Given the description of an element on the screen output the (x, y) to click on. 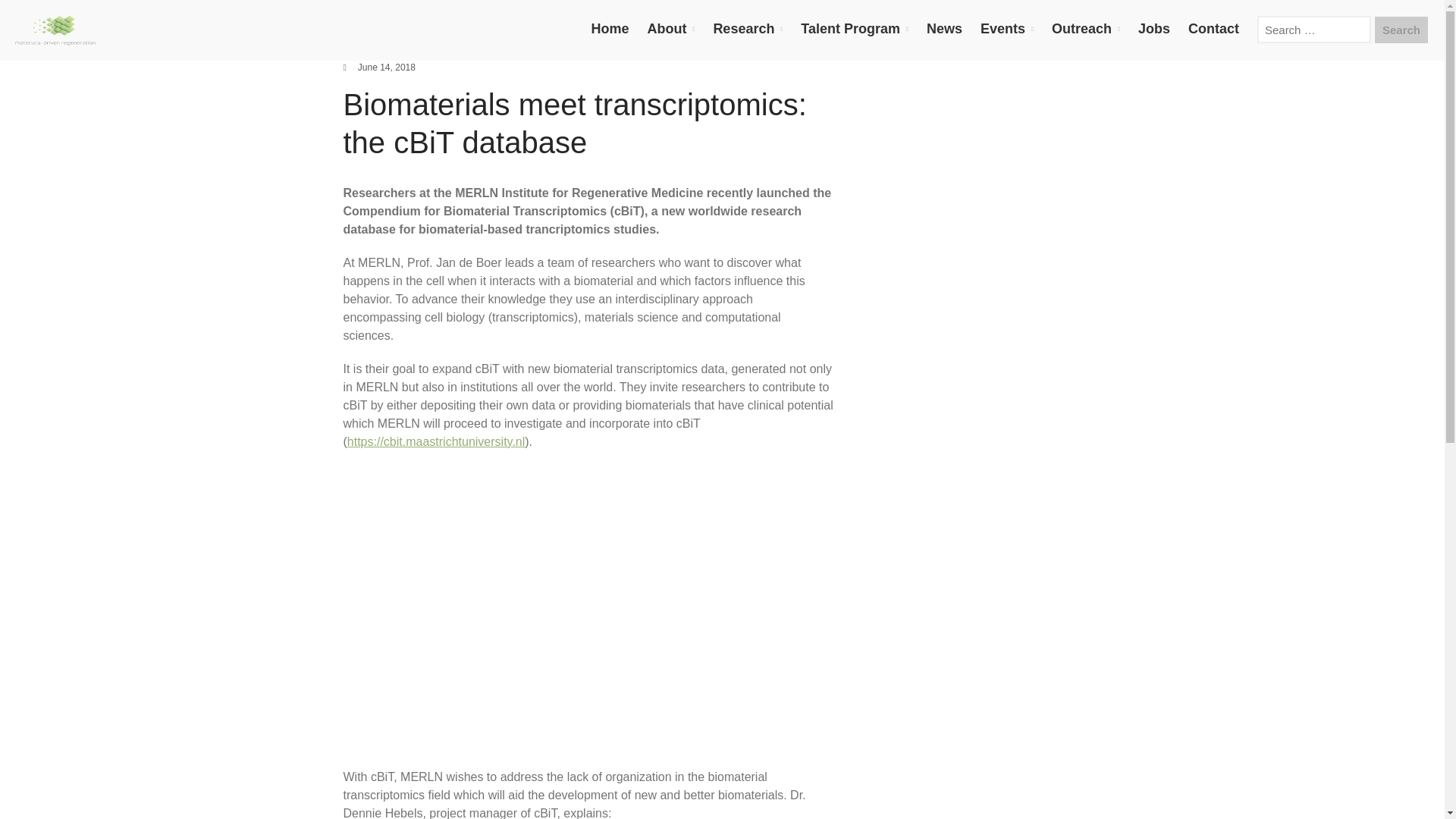
Search (1401, 29)
Search (1315, 809)
Search (1401, 29)
